Given the description of an element on the screen output the (x, y) to click on. 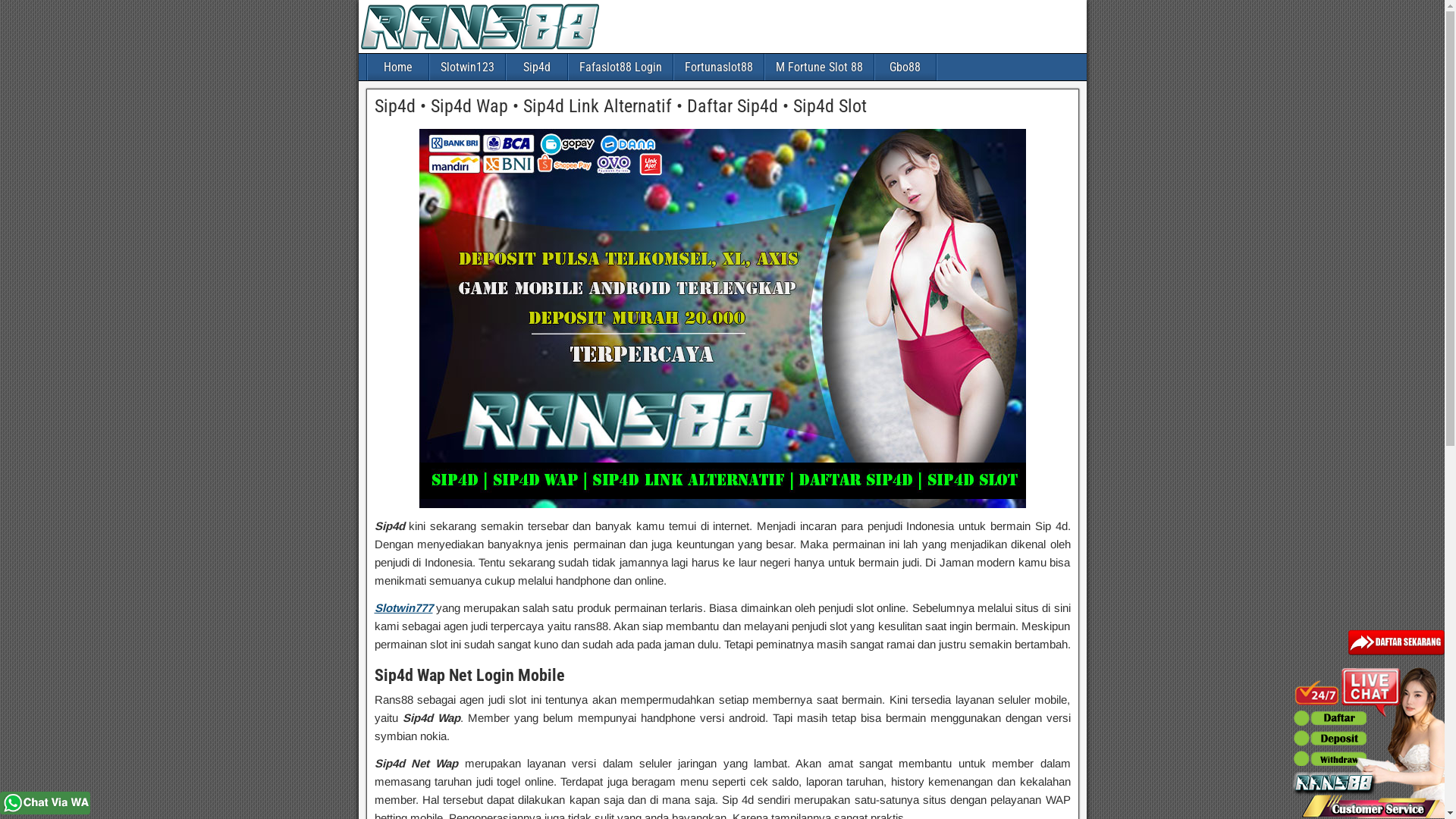
Sip4d Element type: text (536, 66)
Daftar Rans88 Element type: hover (1396, 653)
M Fortune Slot 88 Element type: text (818, 66)
Fafaslot88 Login Element type: text (620, 66)
Slotwin123 Element type: text (466, 66)
Slotwin777 Element type: text (403, 607)
Gbo88 Element type: text (905, 66)
Fortunaslot88 Element type: text (717, 66)
Home Element type: text (397, 66)
